Given the description of an element on the screen output the (x, y) to click on. 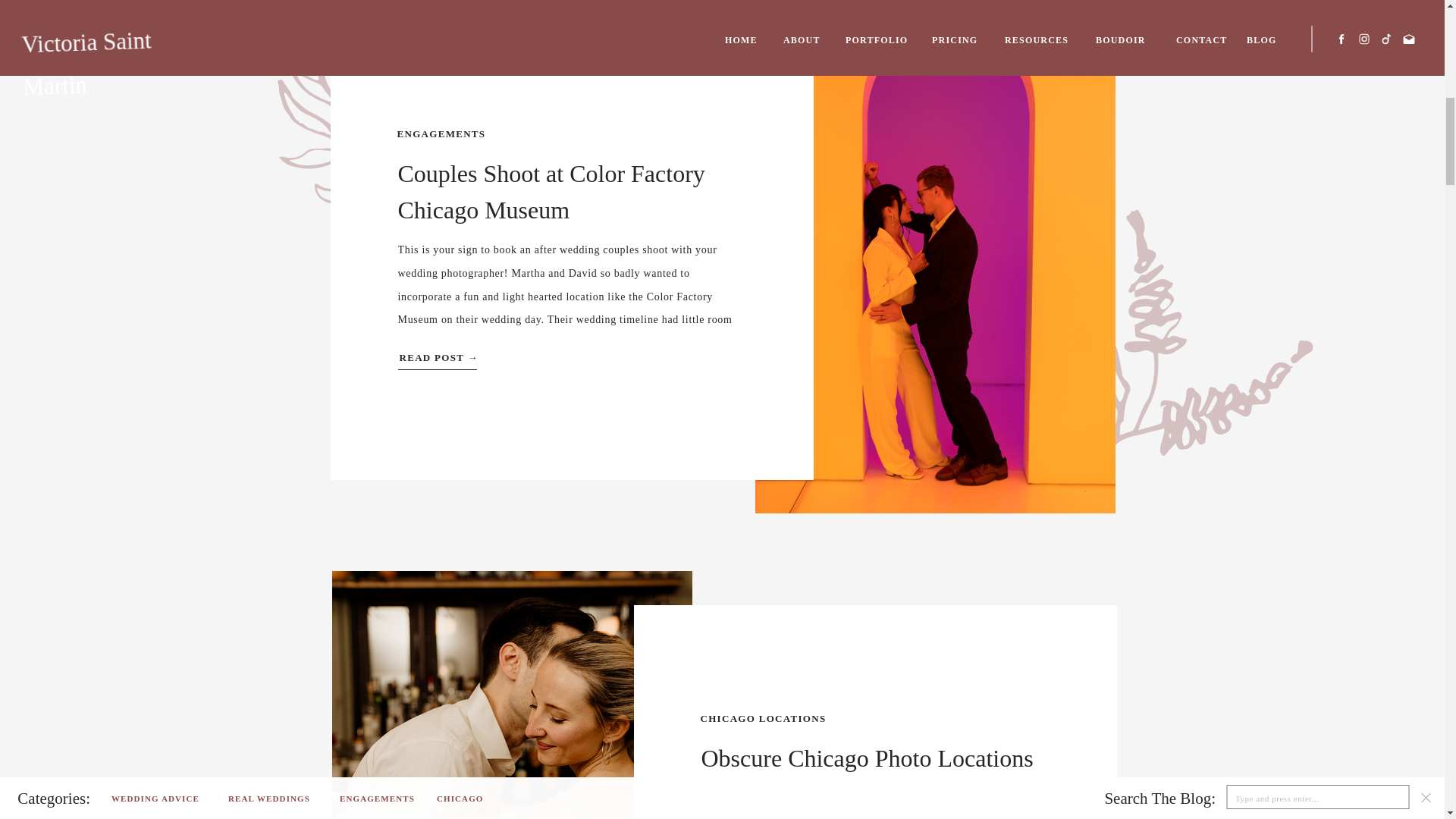
Couples Shoot at Color Factory Chicago Museum (522, 354)
Obscure Chicago Photo Locations (866, 758)
CHICAGO LOCATIONS (763, 717)
ENGAGEMENTS (441, 133)
Couples Shoot at Color Factory Chicago Museum (550, 191)
Obscure Chicago Photo Locations (512, 694)
